Given the description of an element on the screen output the (x, y) to click on. 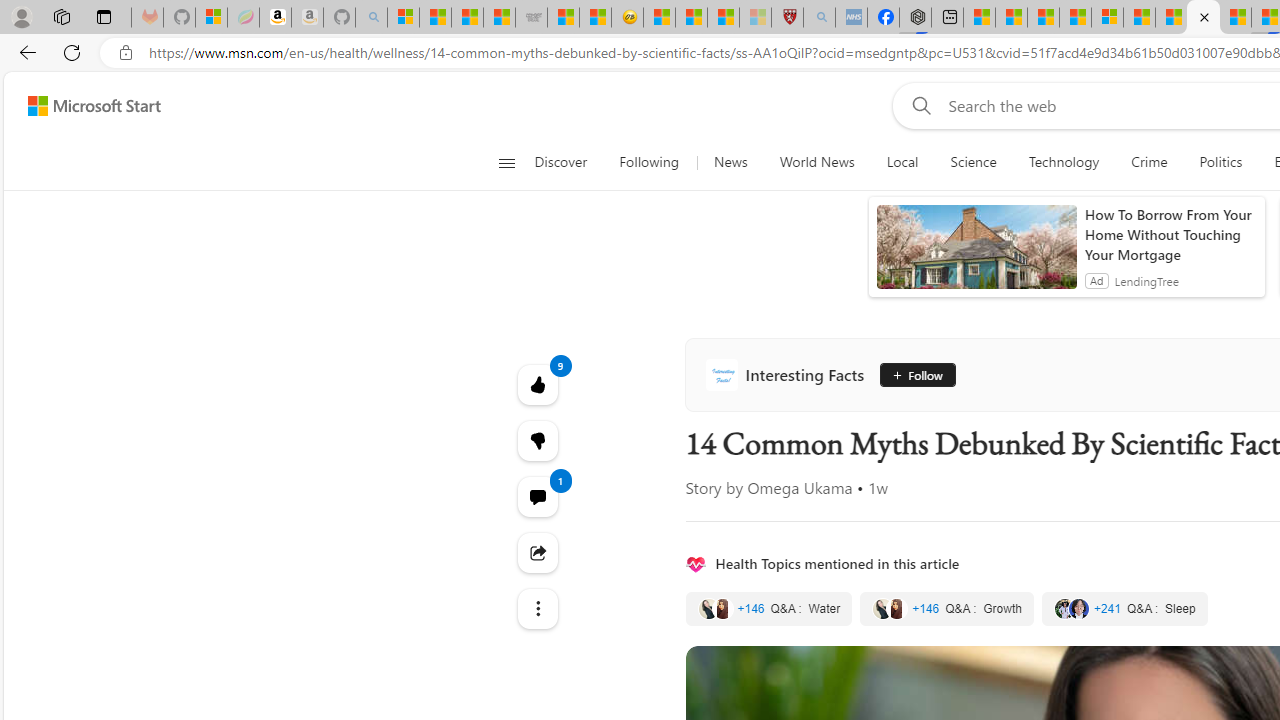
Follow (914, 374)
9 (537, 440)
Class: at-item (537, 609)
Stocks - MSN (498, 17)
14 Common Myths Debunked By Scientific Facts (1202, 17)
Water (768, 608)
Science (973, 162)
Local (902, 162)
